Given the description of an element on the screen output the (x, y) to click on. 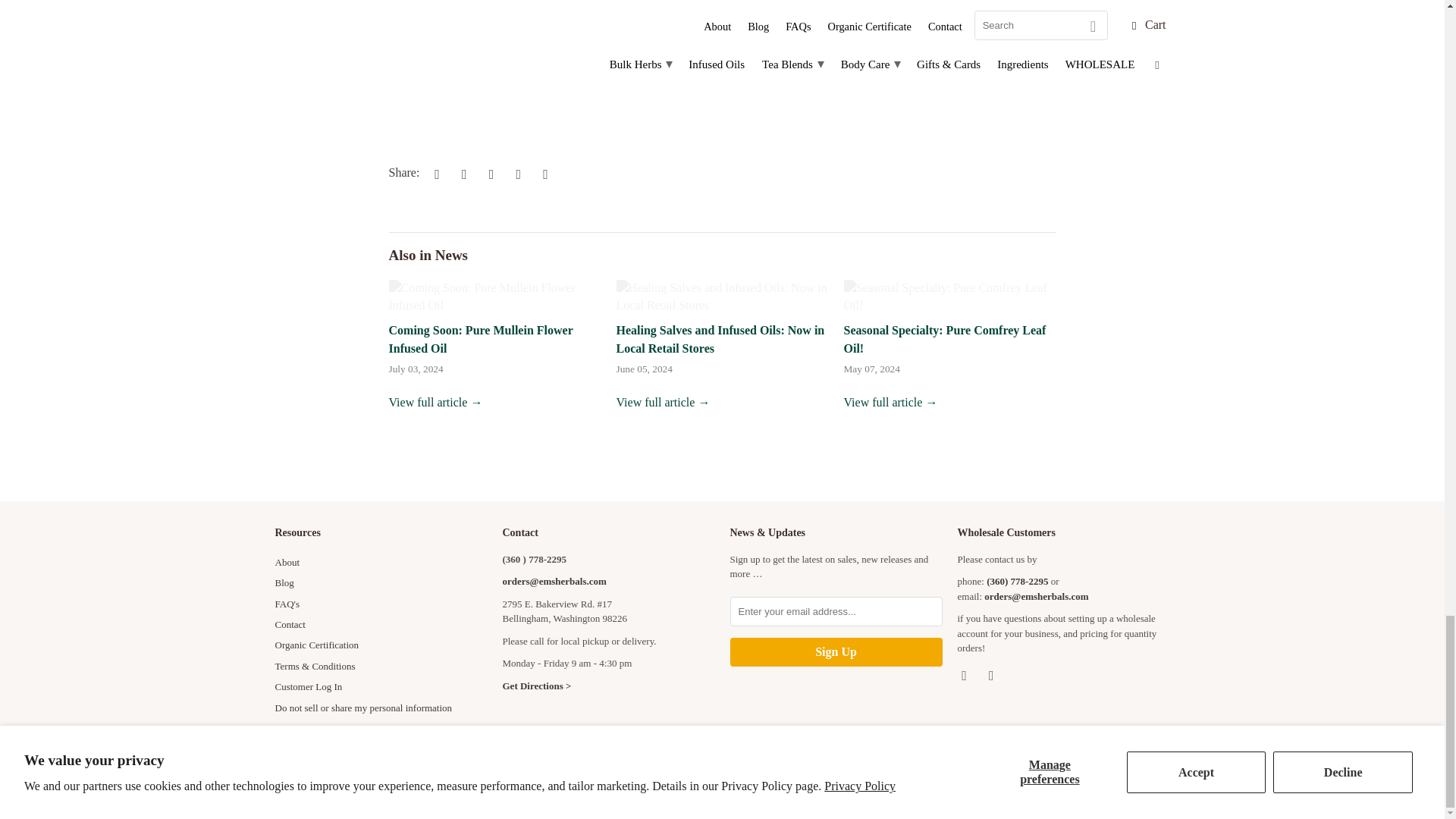
Coming Soon: Pure Mullein Flower Infused Oil (434, 401)
Healing Salves and Infused Oils: Now in Local Retail Stores (662, 401)
Coming Soon: Pure Mullein Flower Infused Oil (493, 296)
Seasonal Specialty: Pure Comfrey Leaf Oil! (949, 296)
Seasonal Specialty: Pure Comfrey Leaf Oil! (890, 401)
Coming Soon: Pure Mullein Flower Infused Oil (480, 338)
Healing Salves and Infused Oils: Now in Local Retail Stores (721, 296)
Healing Salves and Infused Oils: Now in Local Retail Stores (719, 338)
Share this on Facebook (461, 173)
sign Up (835, 652)
Share this on Twitter (434, 173)
Seasonal Specialty: Pure Comfrey Leaf Oil! (944, 338)
Share this on Pinterest (488, 173)
Email this to a friend (542, 173)
